Given the description of an element on the screen output the (x, y) to click on. 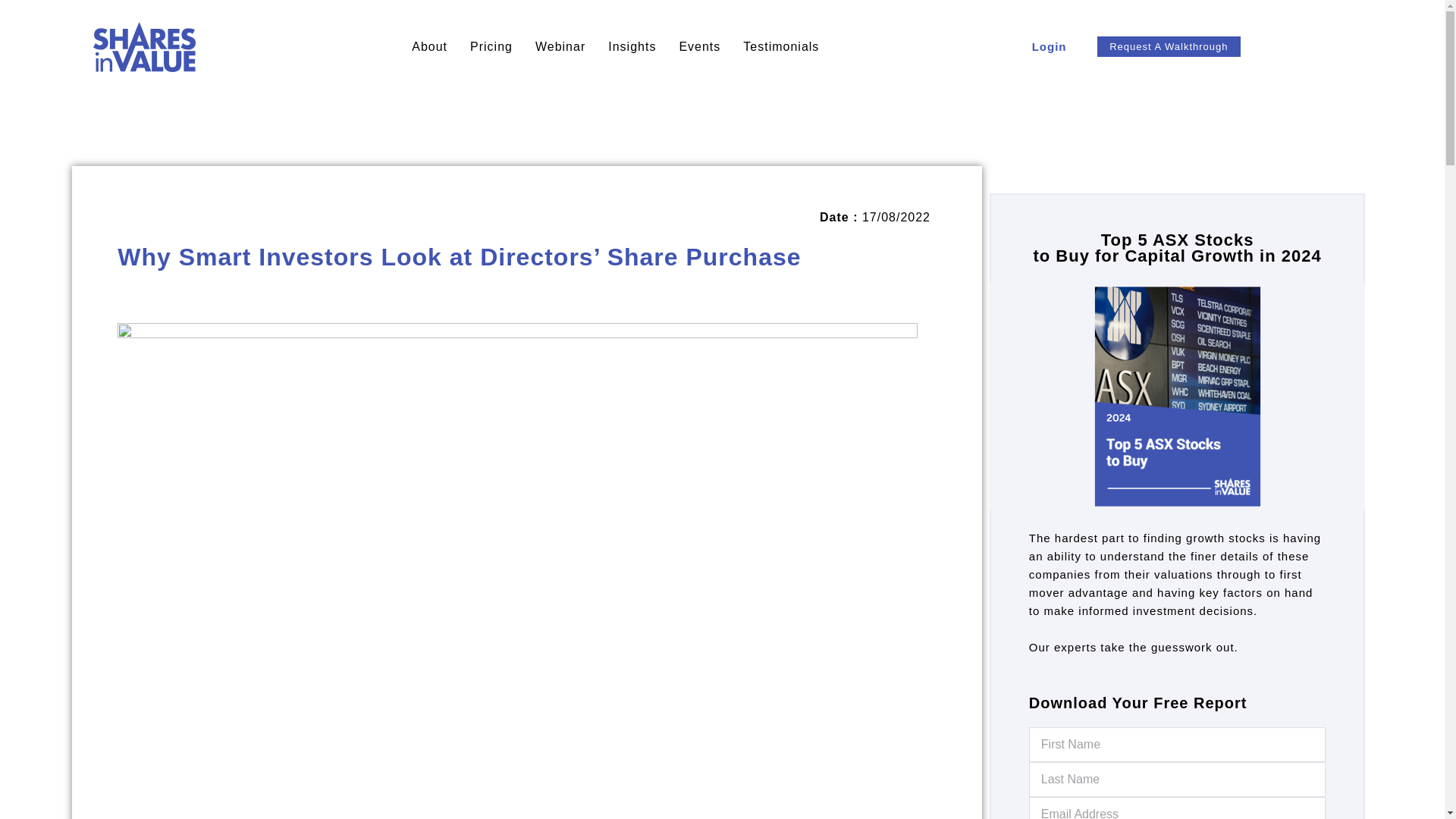
Events (699, 46)
Pricing (491, 46)
About (429, 46)
Testimonials (780, 46)
Login (1048, 46)
Insights (631, 46)
Request A Walkthrough (1168, 46)
Webinar (560, 46)
